Given the description of an element on the screen output the (x, y) to click on. 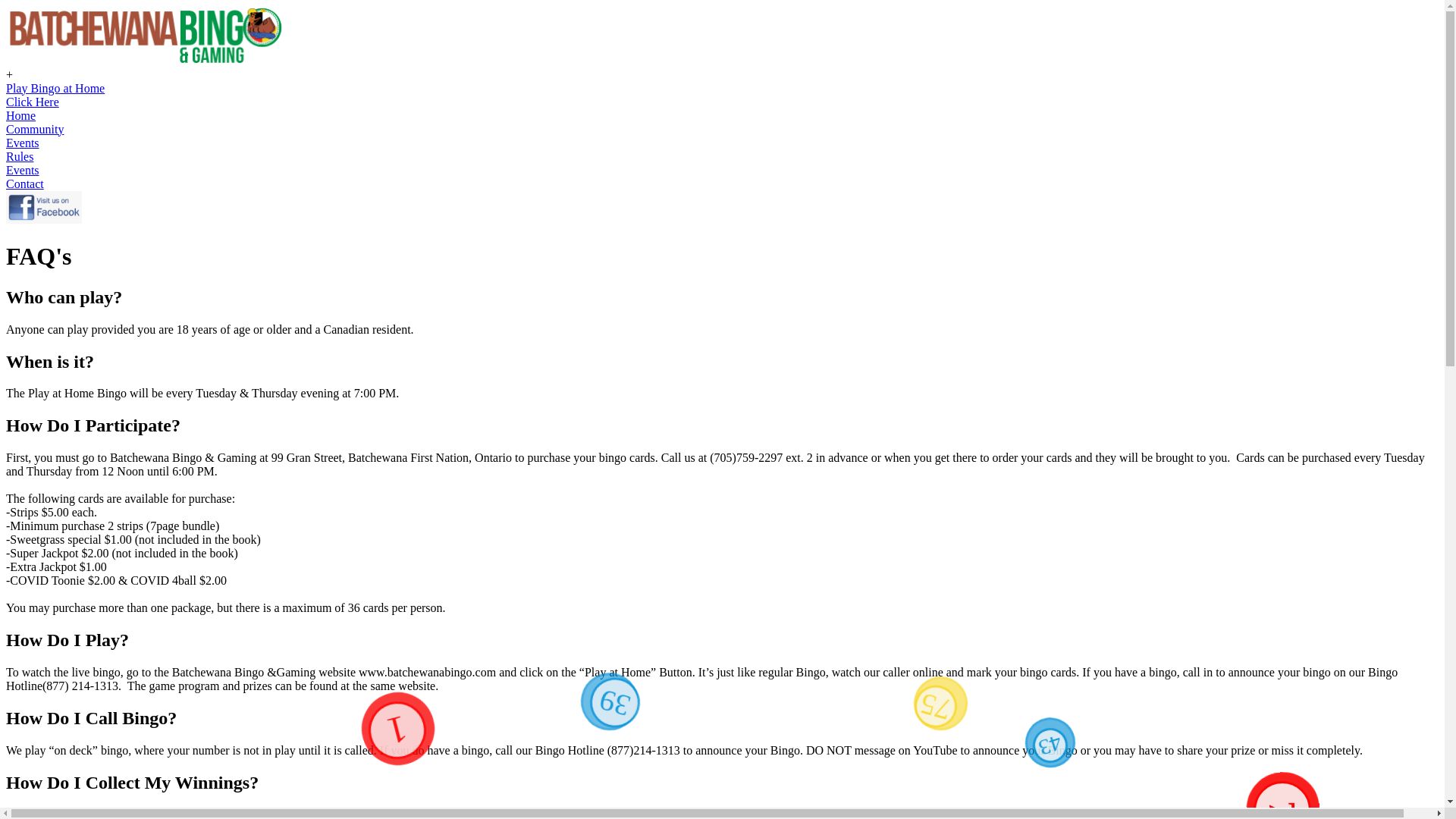
Events Element type: text (722, 143)
Rules Element type: text (722, 156)
Play Bingo at Home
Click Here Element type: text (722, 95)
Home Element type: text (722, 115)
Community Element type: text (722, 129)
Contact Element type: text (722, 184)
Events Element type: text (722, 170)
